Given the description of an element on the screen output the (x, y) to click on. 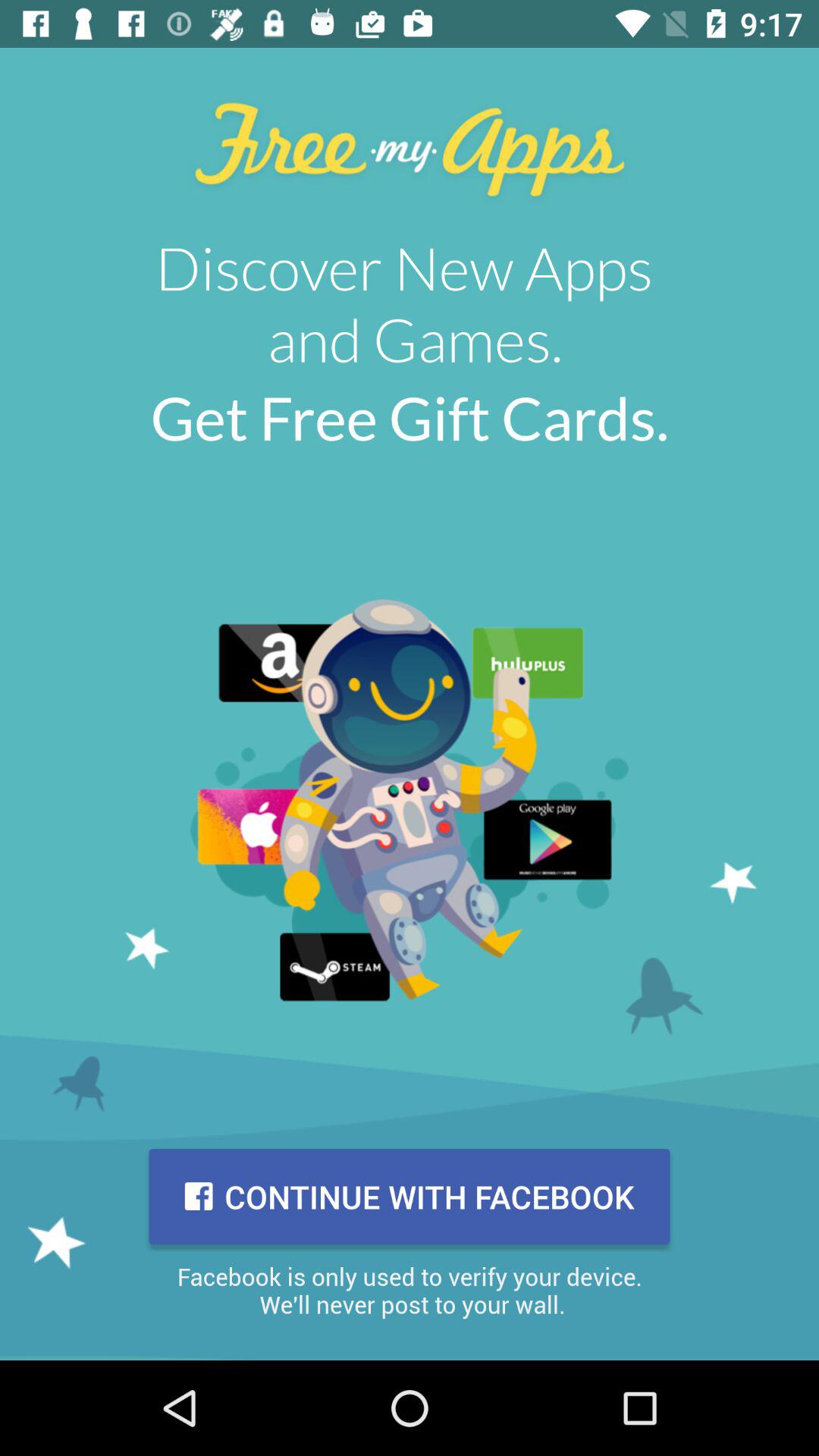
select item above facebook is only item (409, 1196)
